Given the description of an element on the screen output the (x, y) to click on. 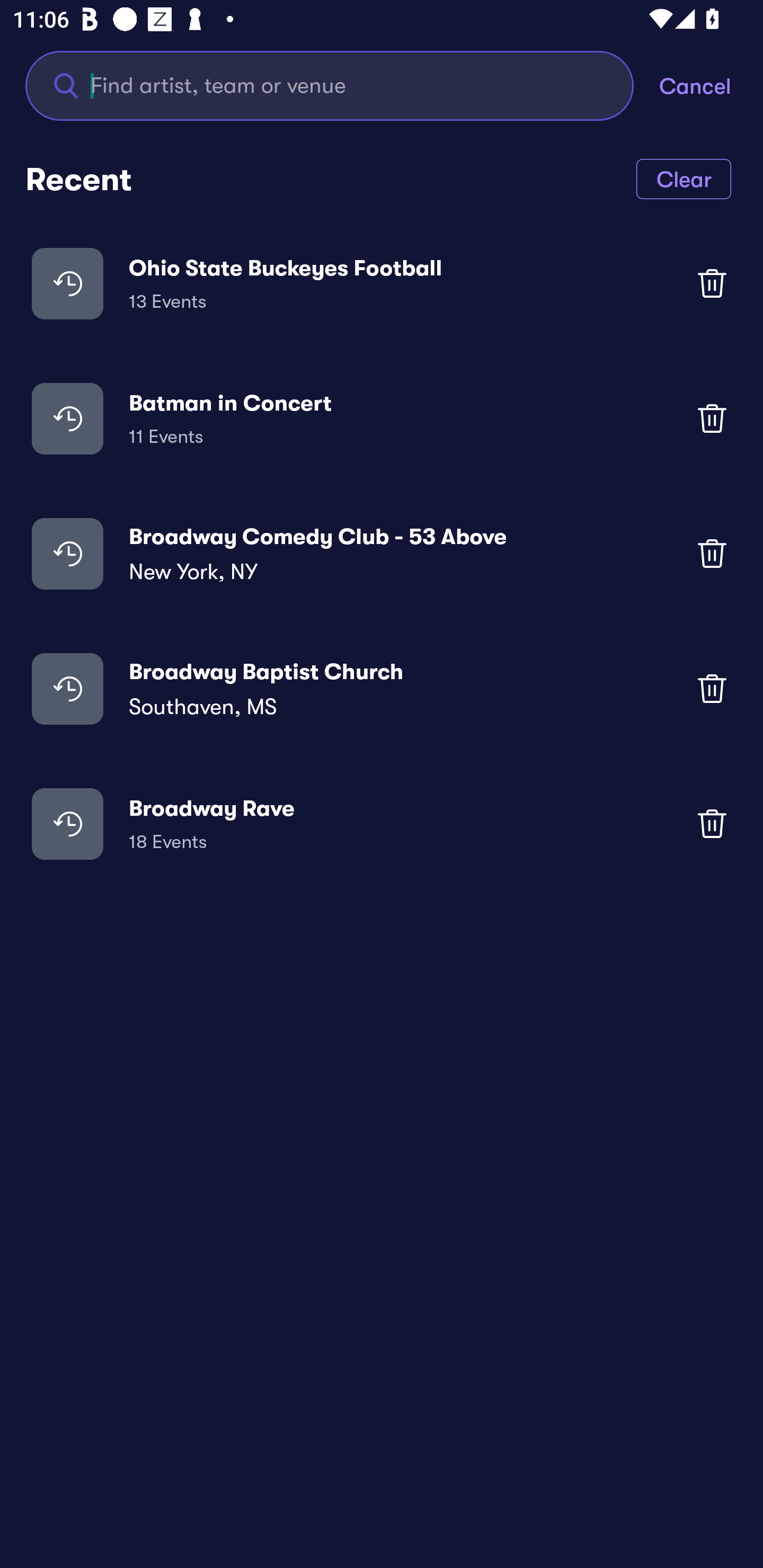
Cancel (711, 85)
Find artist, team or venue Find (329, 85)
Find artist, team or venue Find (341, 85)
Clear (683, 178)
Ohio State Buckeyes Football 13 Events (381, 282)
Batman in Concert 11 Events (381, 417)
Broadway Comedy Club - 53 Above New York, NY (381, 553)
Broadway Baptist Church Southaven, MS (381, 688)
Broadway Rave 18 Events (381, 823)
